Given the description of an element on the screen output the (x, y) to click on. 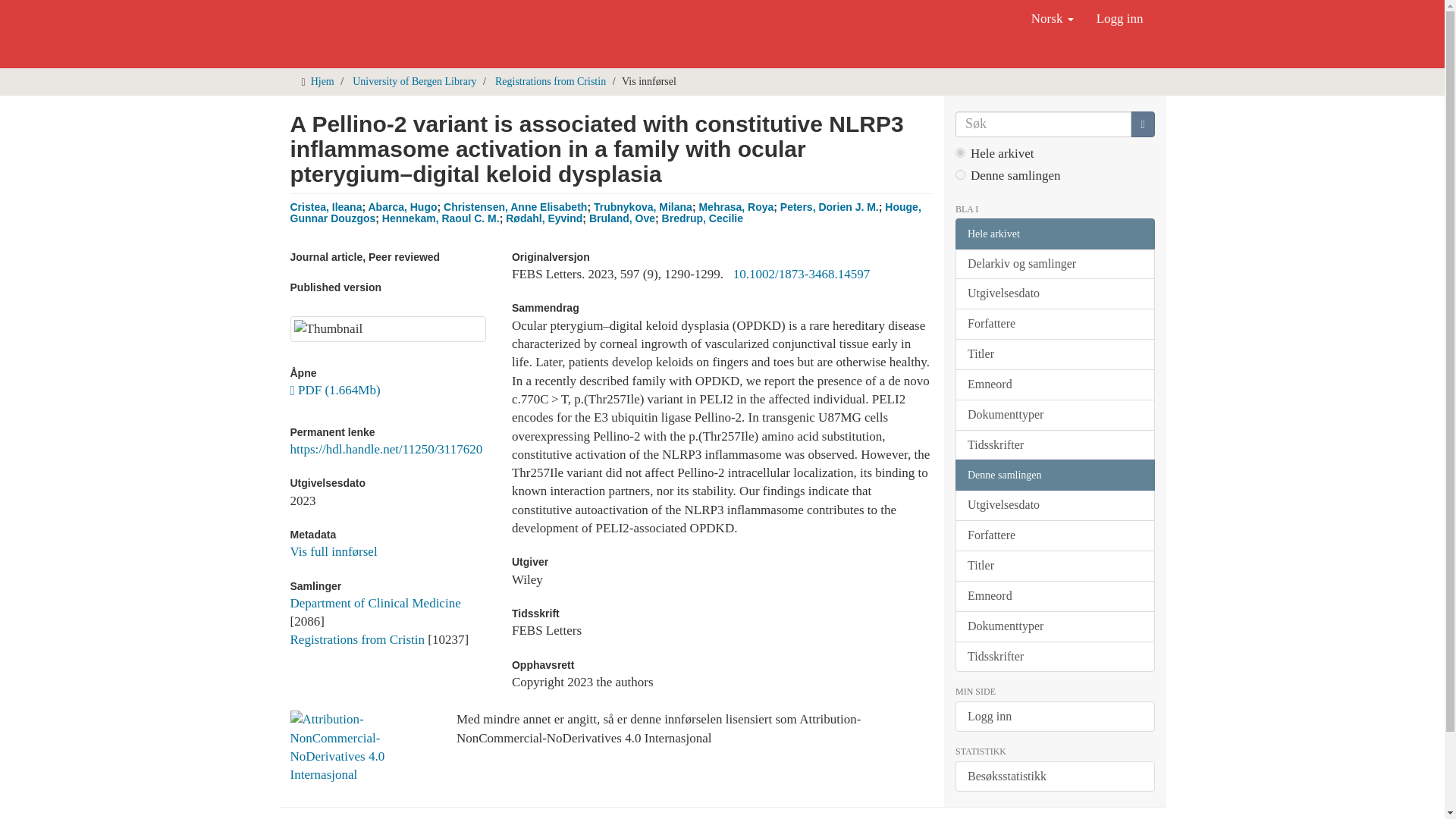
Peters, Dorien J. M. (829, 206)
Christensen, Anne Elisabeth (515, 206)
Trubnykova, Milana (643, 206)
Registrations from Cristin (550, 81)
Logg inn (1119, 18)
Attribution-NonCommercial-NoDerivatives 4.0 Internasjonal (360, 746)
Houge, Gunnar Douzgos (604, 212)
Cristea, Ileana (325, 206)
Norsk  (1052, 18)
University of Bergen Library (414, 81)
